Given the description of an element on the screen output the (x, y) to click on. 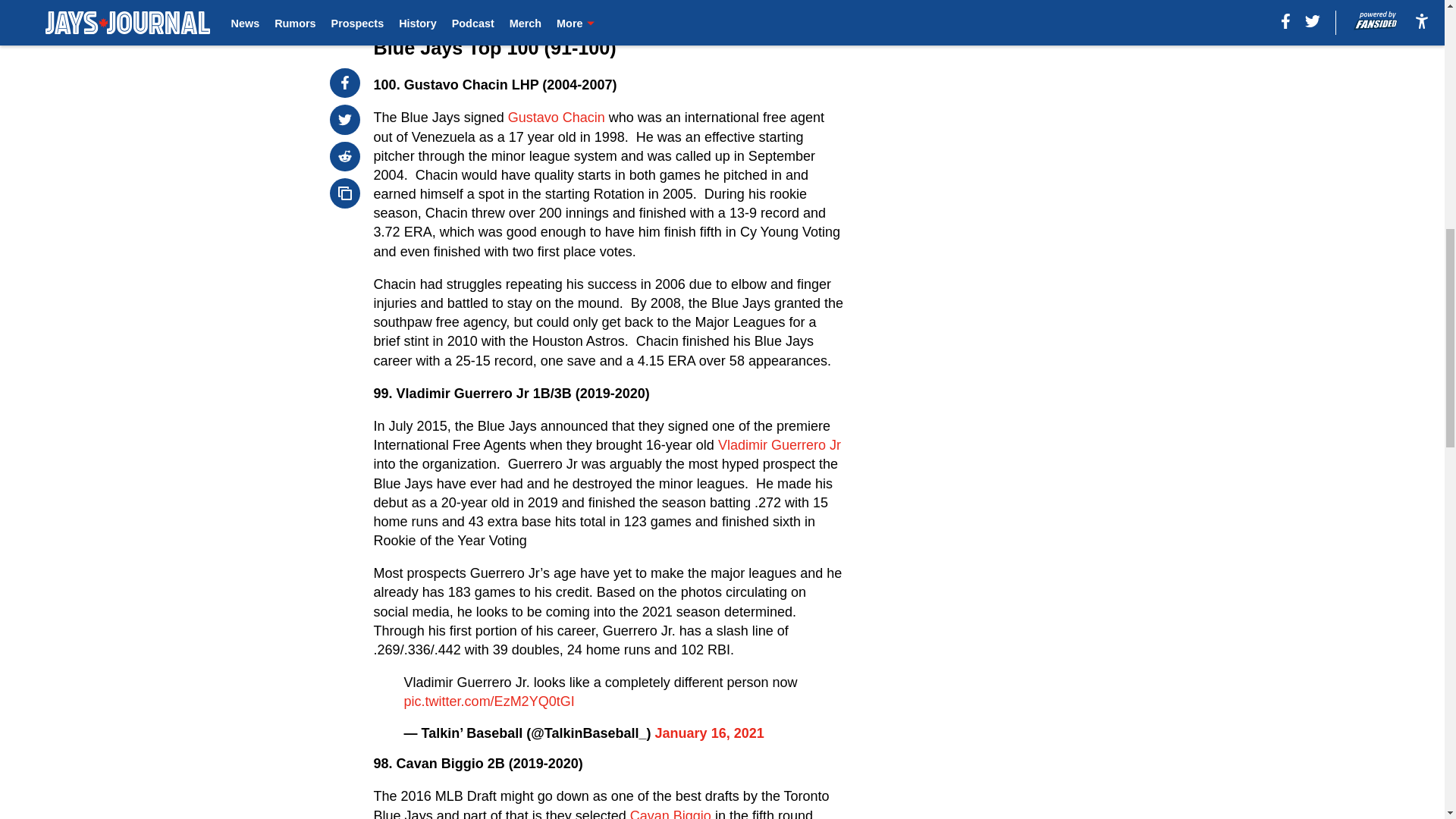
Vladimir Guerrero Jr (779, 444)
Gustavo Chacin (556, 117)
January 16, 2021 (709, 733)
Cavan Biggio (670, 813)
